Given the description of an element on the screen output the (x, y) to click on. 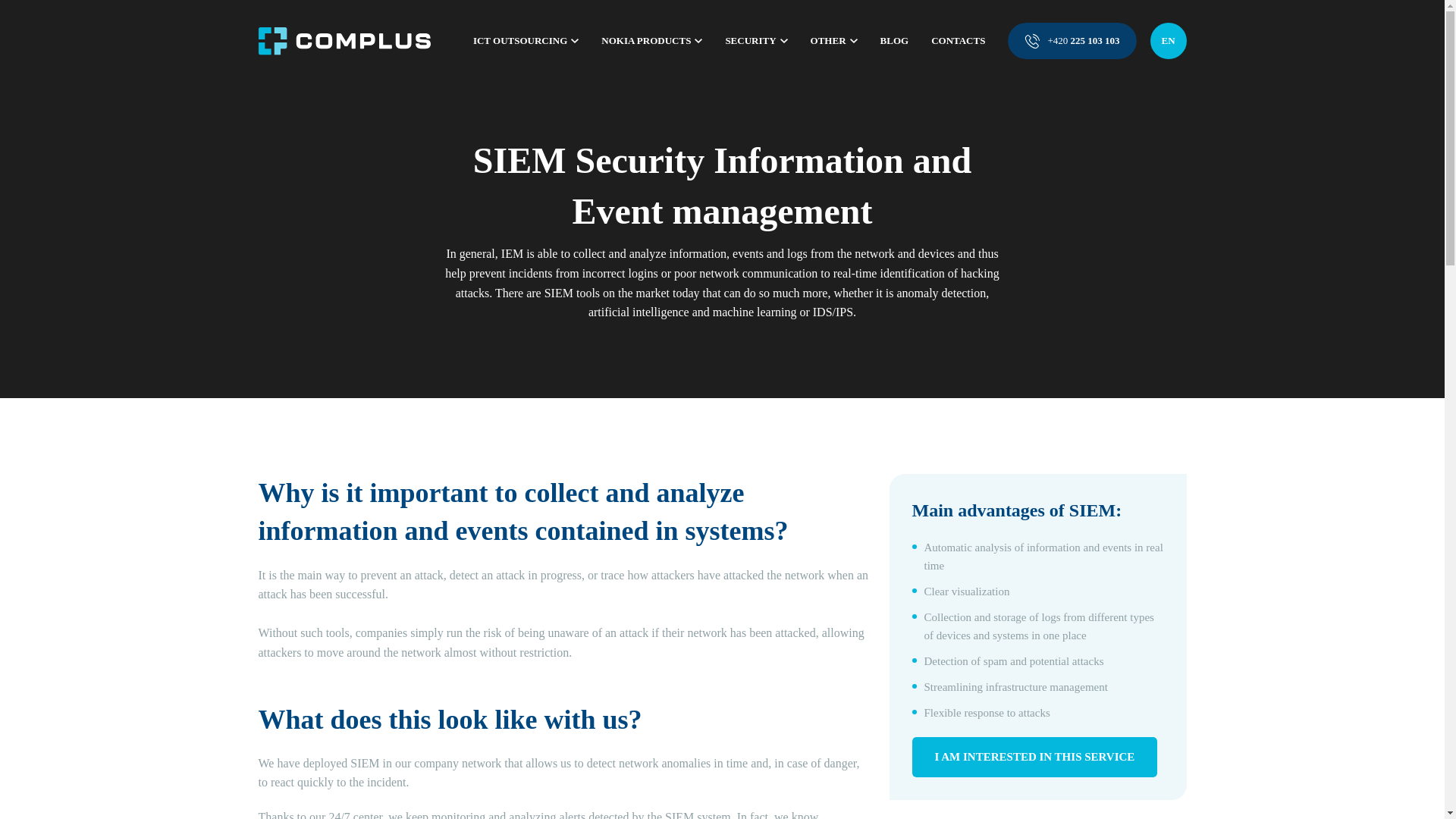
CONTACTS (958, 41)
I AM INTERESTED IN THIS SERVICE (1034, 757)
BLOG (894, 41)
